Given the description of an element on the screen output the (x, y) to click on. 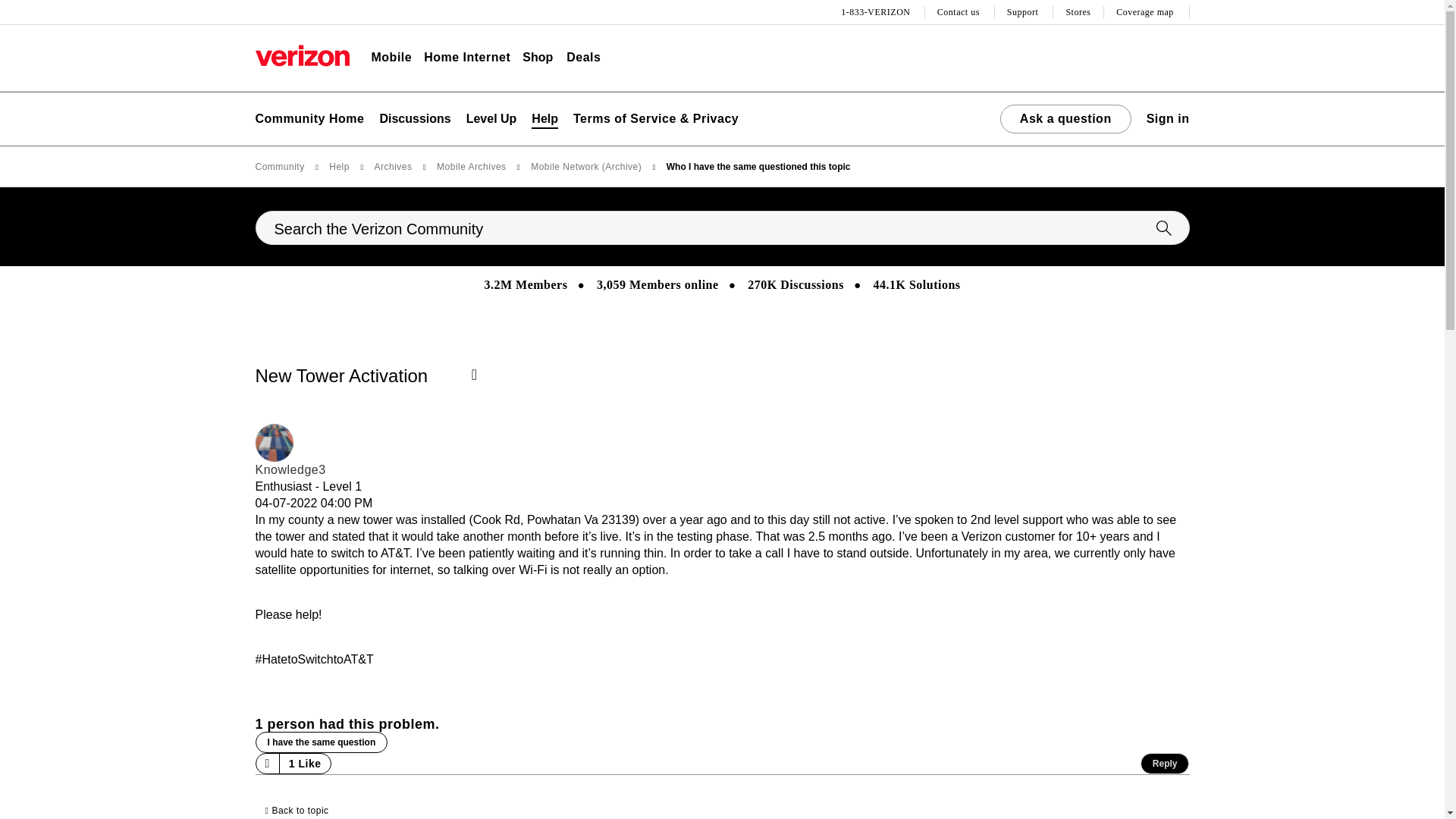
Knowledge3 (273, 442)
Stores (1078, 12)
Mobile (391, 57)
Shop (537, 57)
Show option menu (479, 376)
Home Internet (467, 57)
Click here to give likes to this post. (267, 763)
Search (721, 227)
1-833-VERIZON (876, 12)
Verizon Home Page (301, 55)
Posted on (313, 503)
Click here if you had a similar experience (320, 742)
Coverage map (1146, 12)
Support (1024, 12)
Contact us (959, 12)
